Given the description of an element on the screen output the (x, y) to click on. 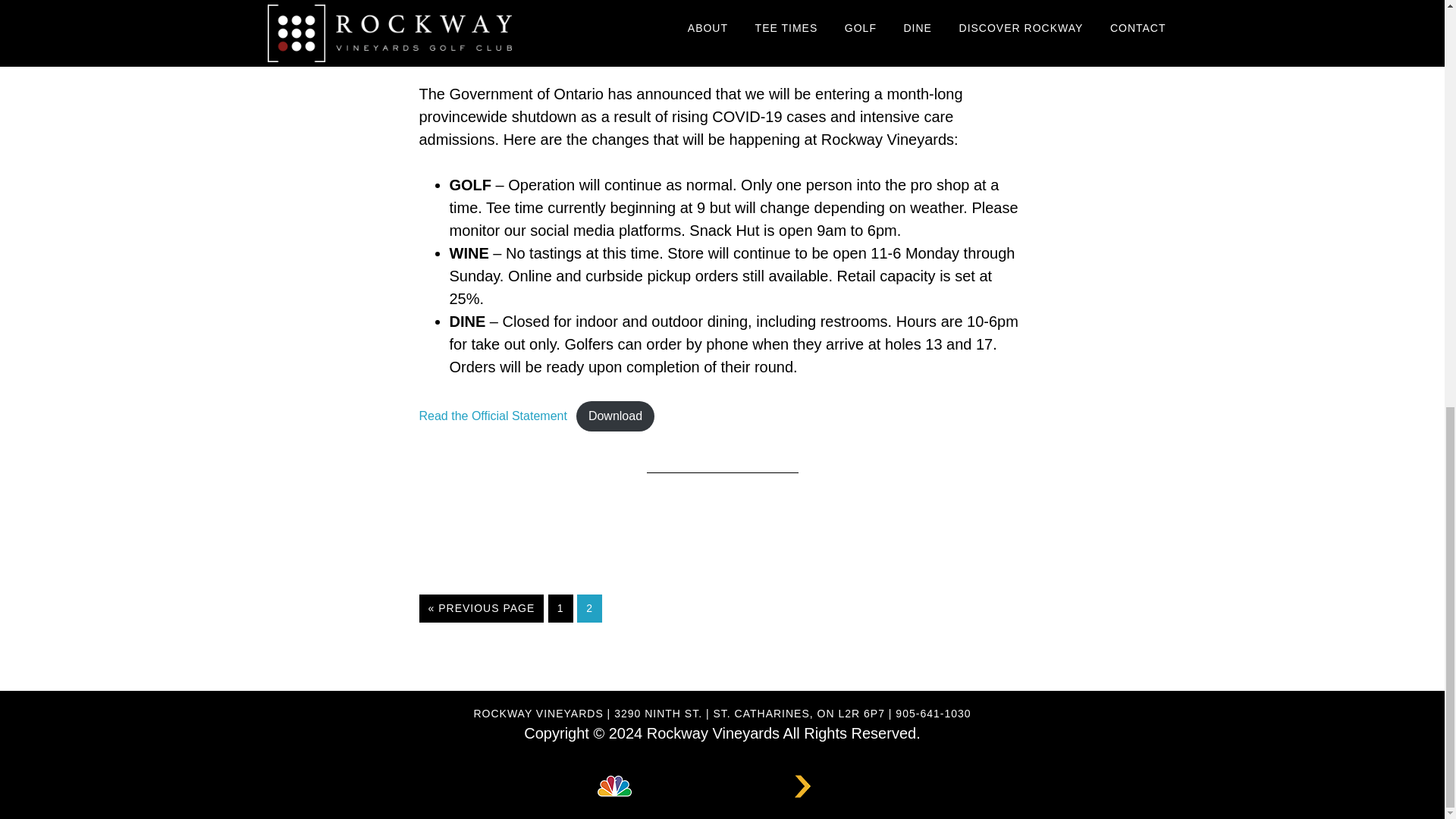
Download (614, 416)
Read the Official Statement (492, 415)
